Given the description of an element on the screen output the (x, y) to click on. 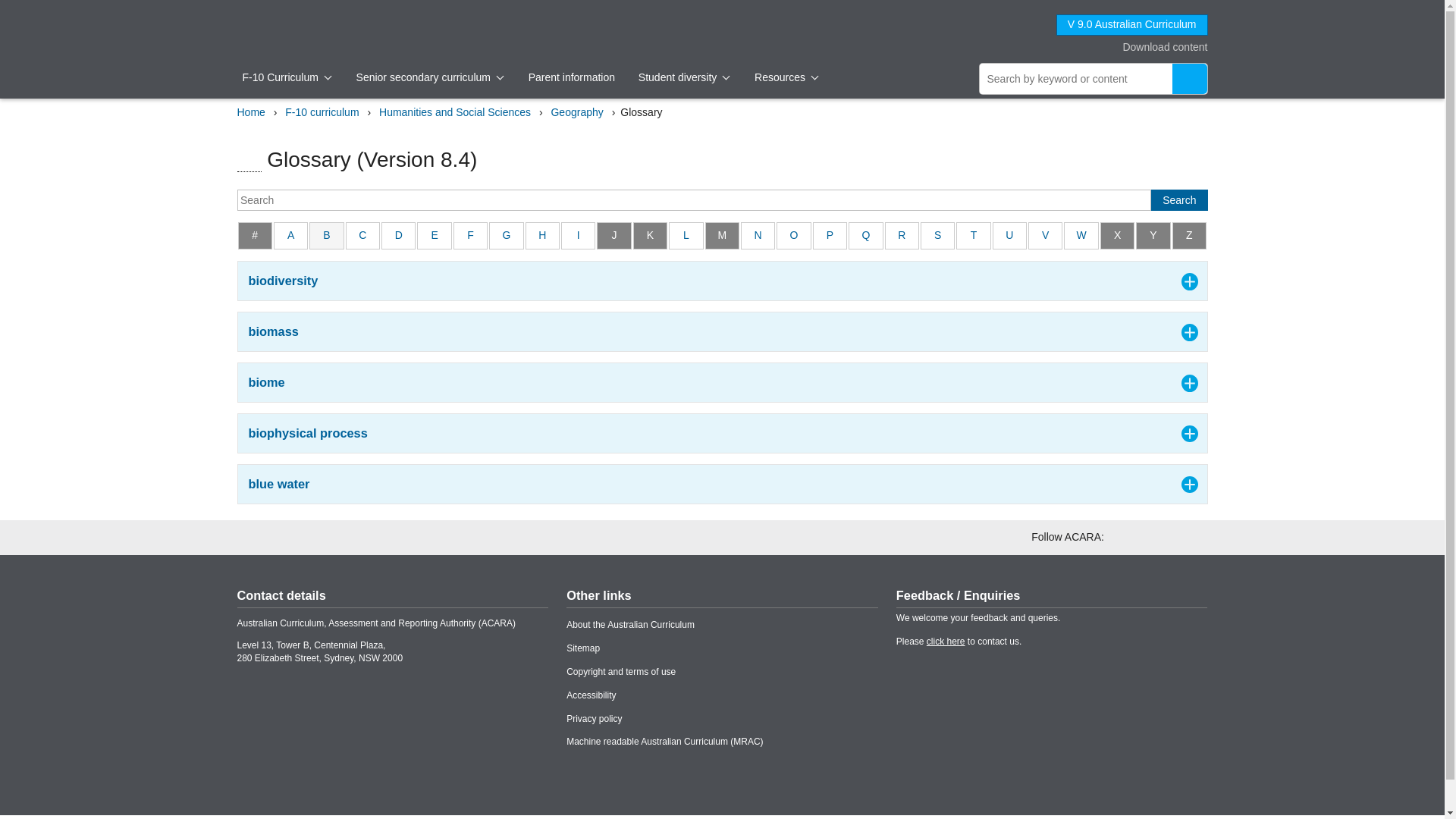
Australian Curriculum (292, 23)
Download content (1153, 47)
V 9.0 Australian Curriculum (1132, 25)
Student diversity (684, 77)
F-10 Curriculum (288, 77)
Parent information (571, 77)
Senior secondary curriculum (430, 77)
Share (1162, 146)
Australian Curriculum (292, 23)
